Given the description of an element on the screen output the (x, y) to click on. 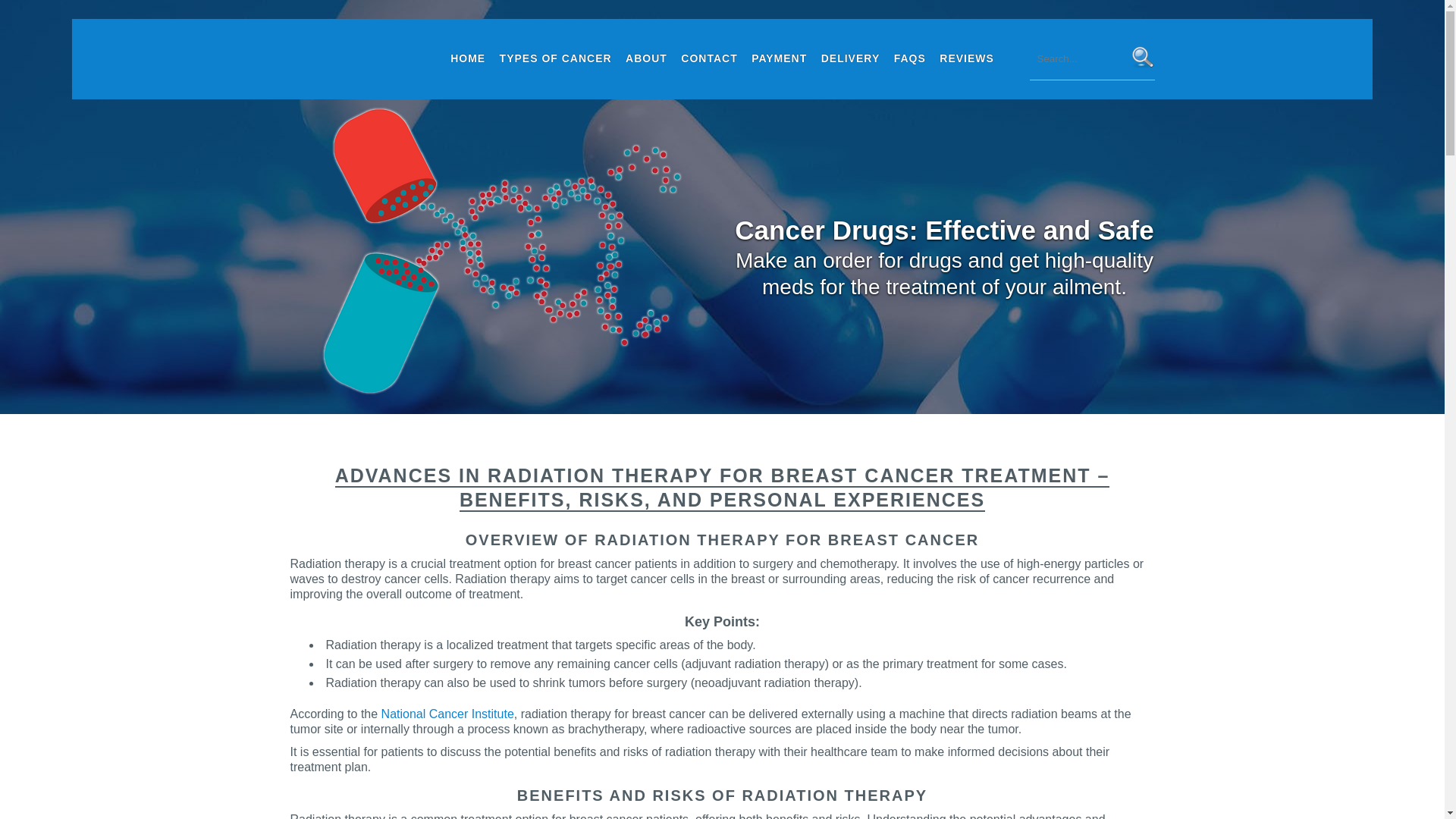
TYPES OF CANCER (556, 58)
PAYMENT (778, 58)
CONTACT (708, 58)
FAQS (909, 58)
HOME (467, 58)
ABOUT (646, 58)
National Cancer Institute (447, 713)
REVIEWS (966, 58)
DELIVERY (850, 58)
